Given the description of an element on the screen output the (x, y) to click on. 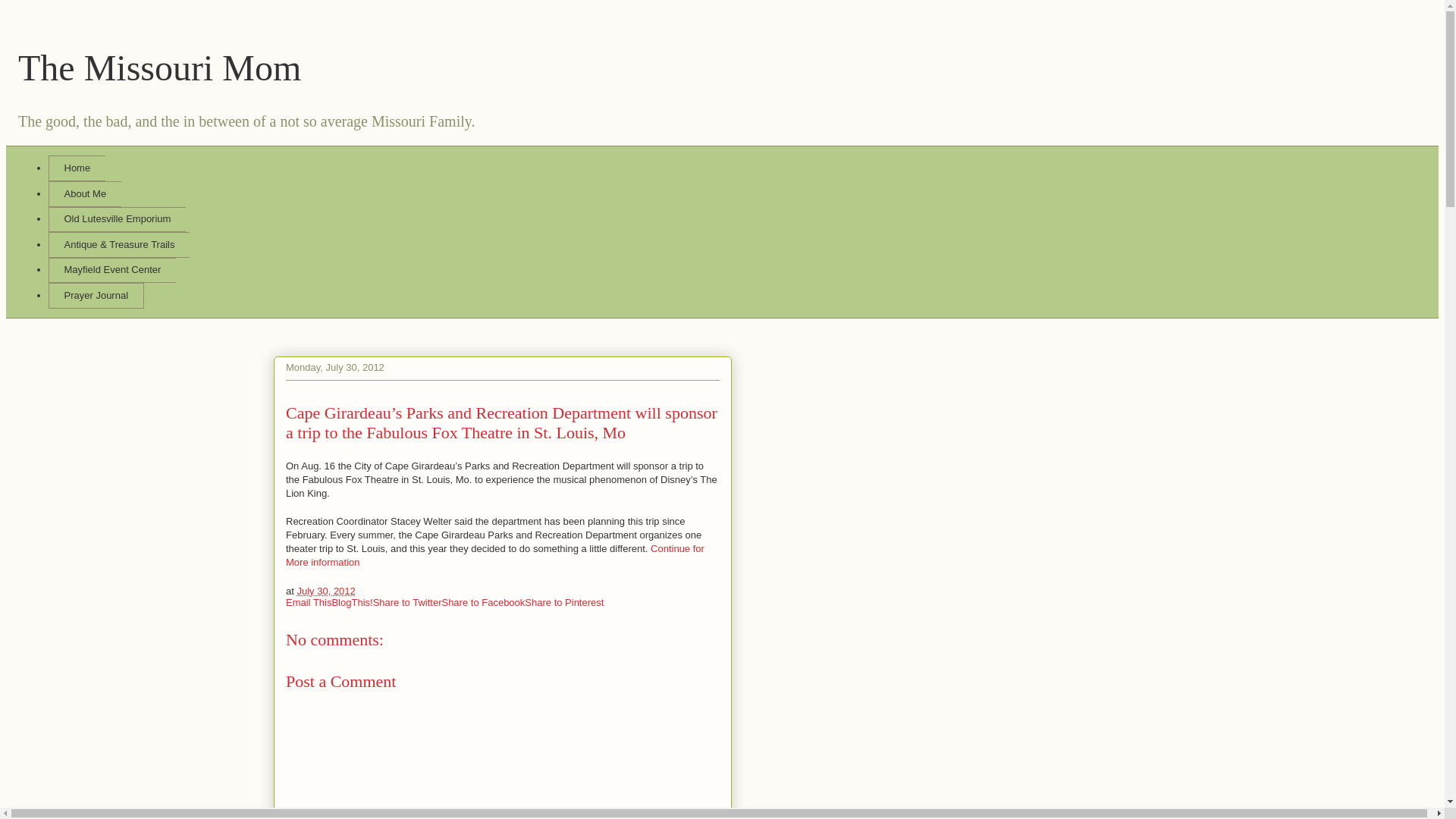
Home (76, 167)
Continue for More information (494, 555)
Old Lutesville Emporium (117, 218)
Share to Facebook (482, 602)
July 30, 2012 (326, 591)
Share to Pinterest (564, 602)
BlogThis! (351, 602)
Email This (308, 602)
Email Post (364, 591)
Share to Facebook (482, 602)
BlogThis! (351, 602)
Email This (308, 602)
Share to Twitter (407, 602)
Share to Twitter (407, 602)
permanent link (326, 591)
